Given the description of an element on the screen output the (x, y) to click on. 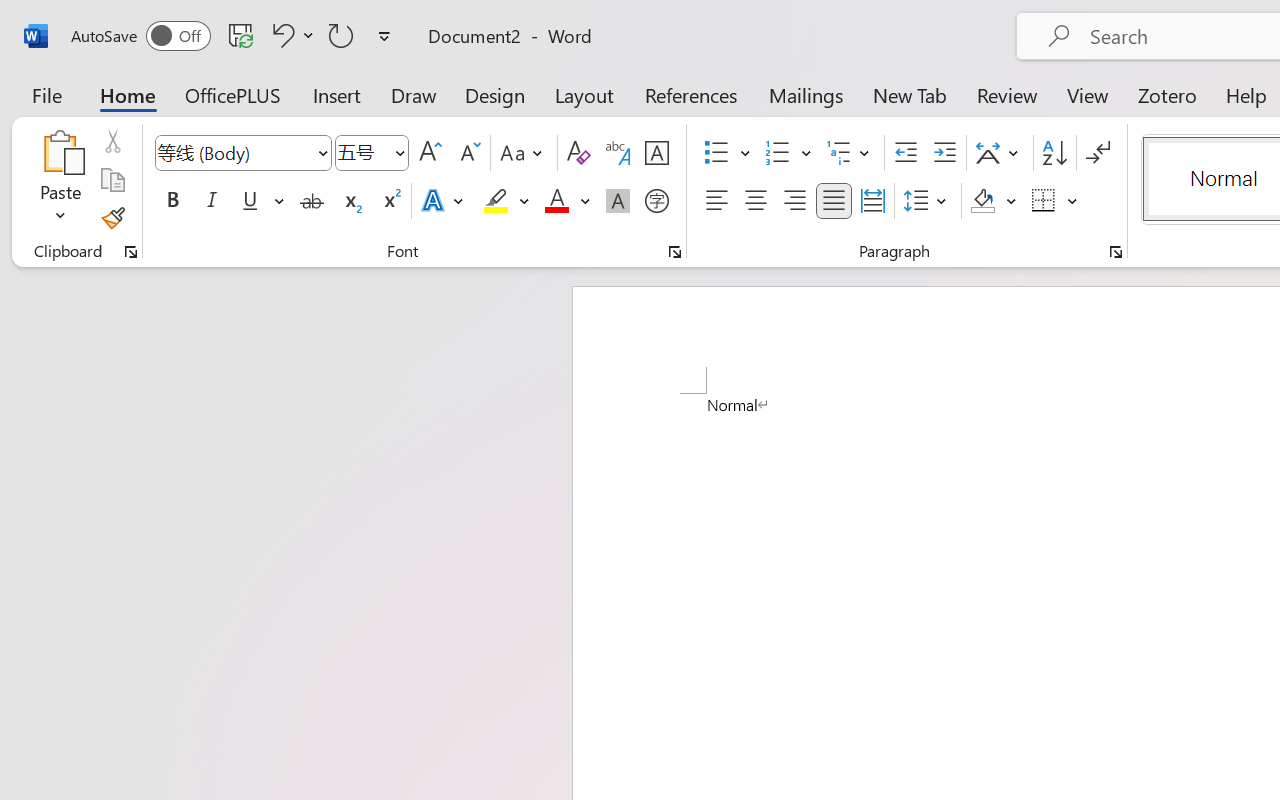
Phonetic Guide... (618, 153)
Numbering (788, 153)
New Tab (909, 94)
Sort... (1054, 153)
Asian Layout (1000, 153)
Design (495, 94)
Paste (60, 179)
Decrease Indent (906, 153)
Align Right (794, 201)
Repeat Doc Close (341, 35)
Paragraph... (1115, 252)
Numbering (778, 153)
Mailings (806, 94)
Open (399, 152)
Show/Hide Editing Marks (1098, 153)
